Given the description of an element on the screen output the (x, y) to click on. 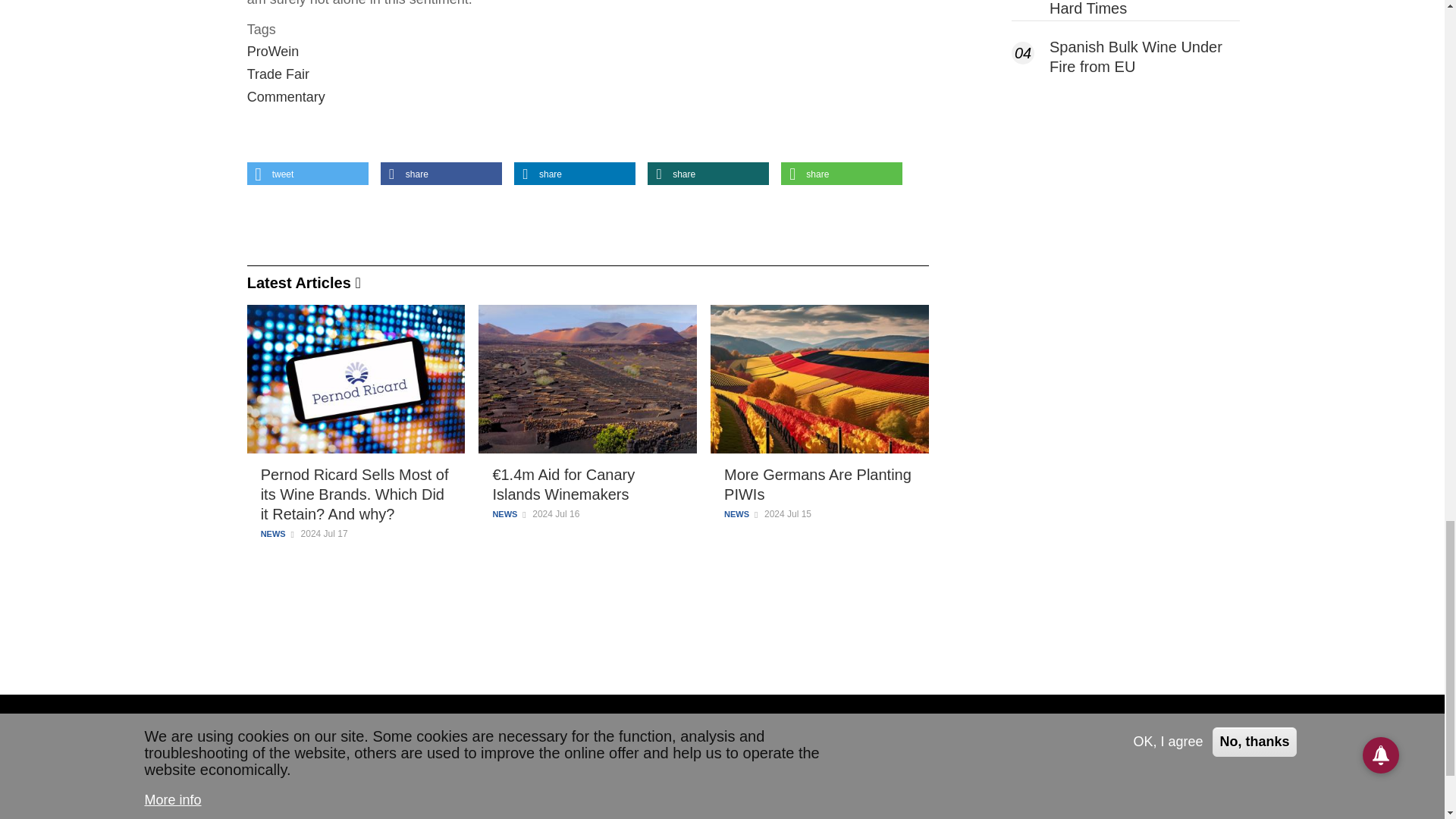
share (707, 173)
Share on XING (707, 173)
Commentary (285, 96)
Share on Facebook (441, 173)
Trade Fair (277, 73)
Share on Whatsapp (841, 173)
share (573, 173)
NEWS (272, 533)
share (841, 173)
Share on LinkedIn (573, 173)
share (441, 173)
NEWS (504, 514)
tweet (307, 173)
ProWein (273, 51)
